Given the description of an element on the screen output the (x, y) to click on. 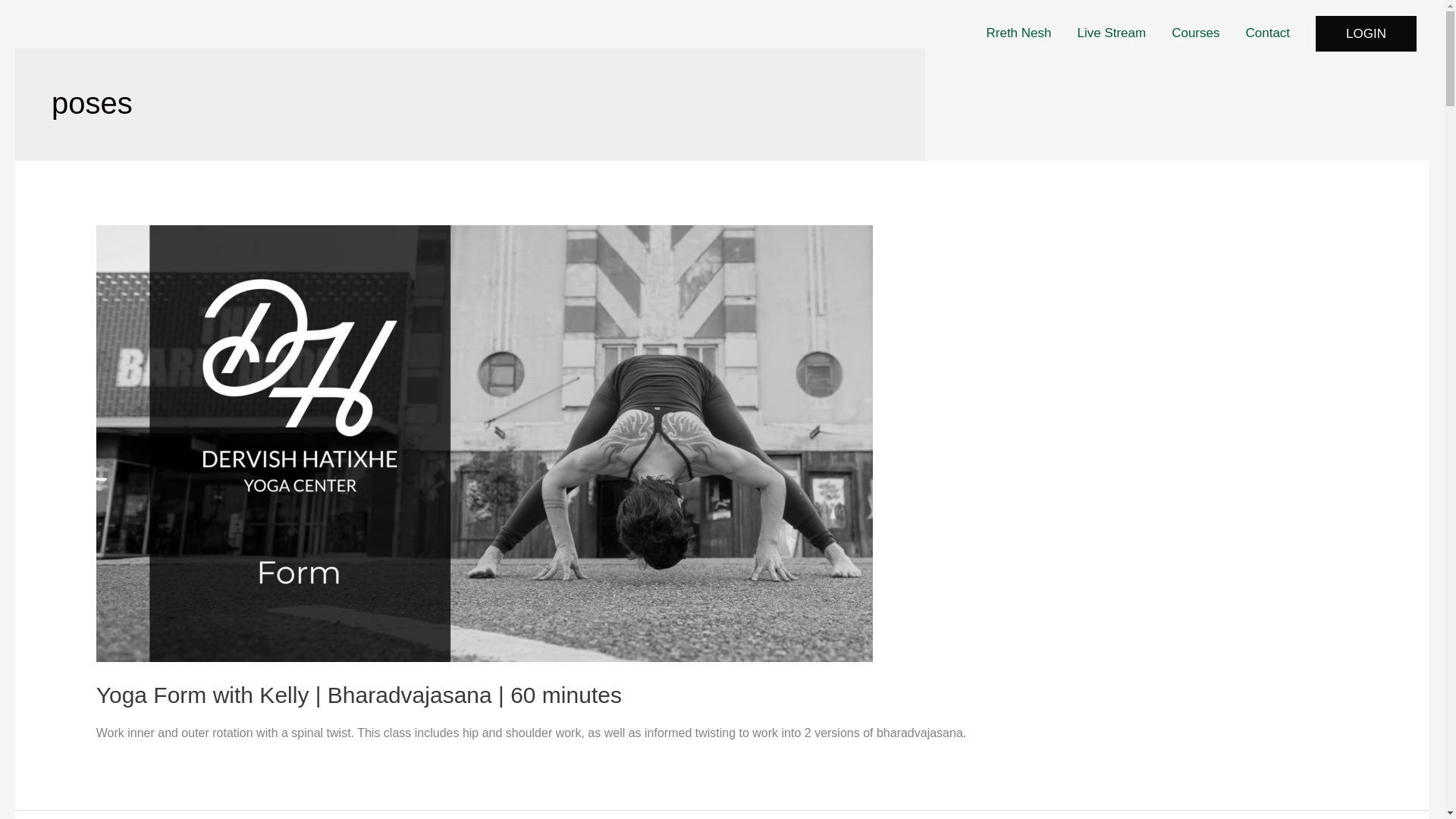
Live Stream (1111, 32)
Contact (1268, 32)
LOGIN (1366, 32)
Rreth Nesh (1019, 32)
Courses (1194, 32)
